Given the description of an element on the screen output the (x, y) to click on. 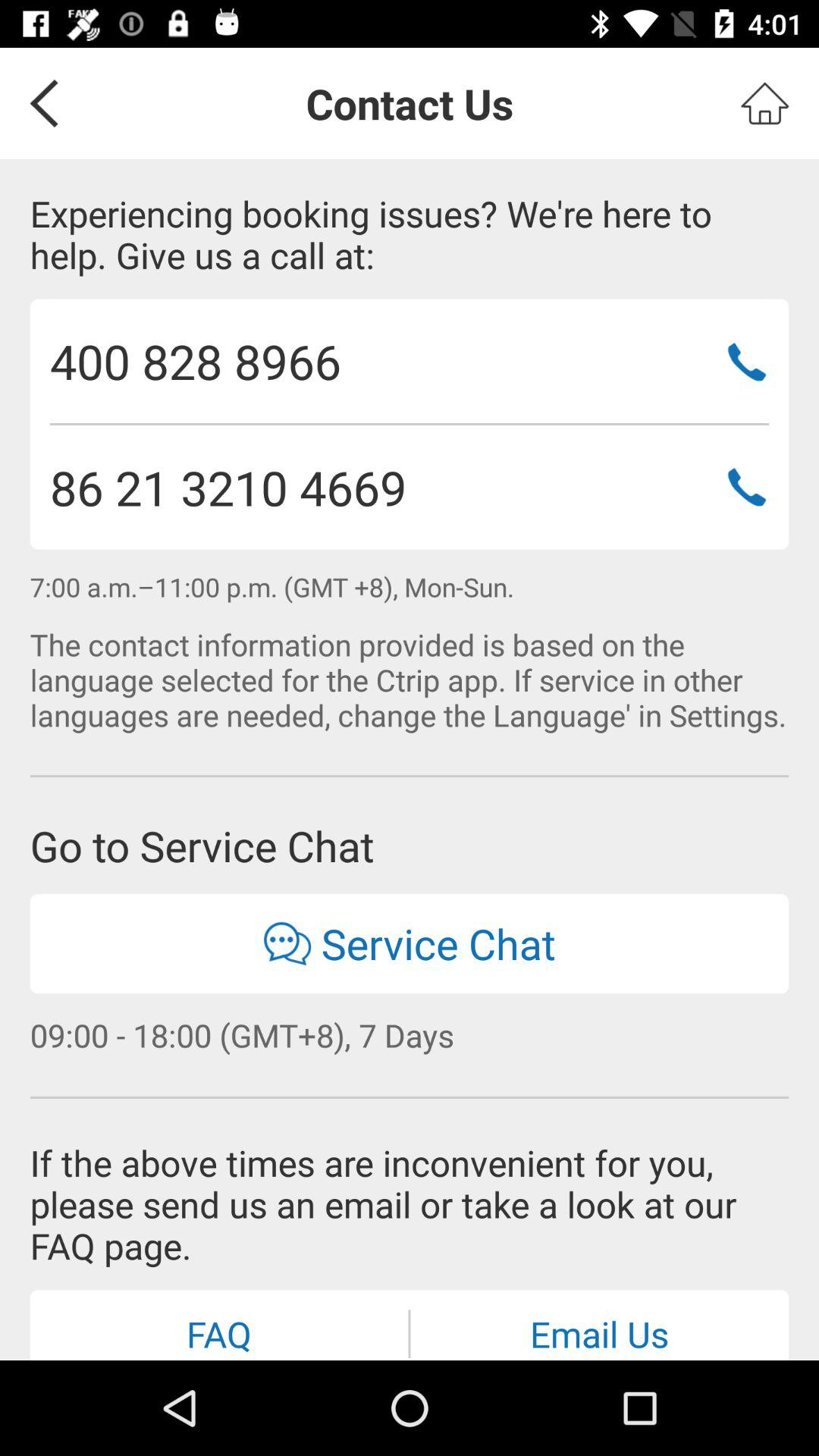
home (764, 103)
